Given the description of an element on the screen output the (x, y) to click on. 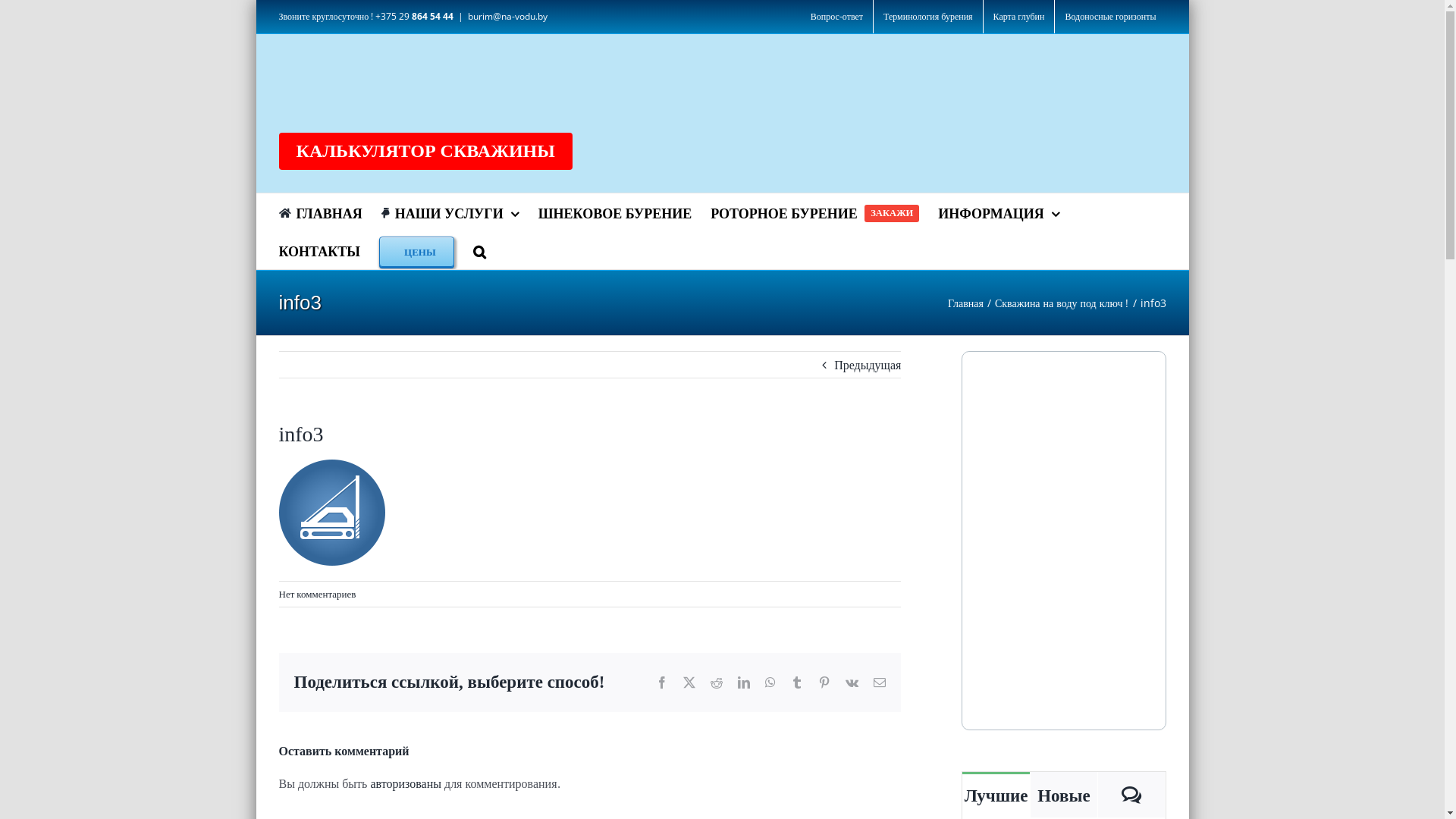
Reddit Element type: text (716, 682)
burim@na-vodu.by Element type: text (507, 15)
Vk Element type: text (851, 682)
Facebook Element type: text (661, 682)
Email Element type: text (879, 682)
Pinterest Element type: text (824, 682)
Tumblr Element type: text (796, 682)
Twitter Element type: text (689, 682)
LinkedIn Element type: text (743, 682)
WhatsApp Element type: text (770, 682)
